Given the description of an element on the screen output the (x, y) to click on. 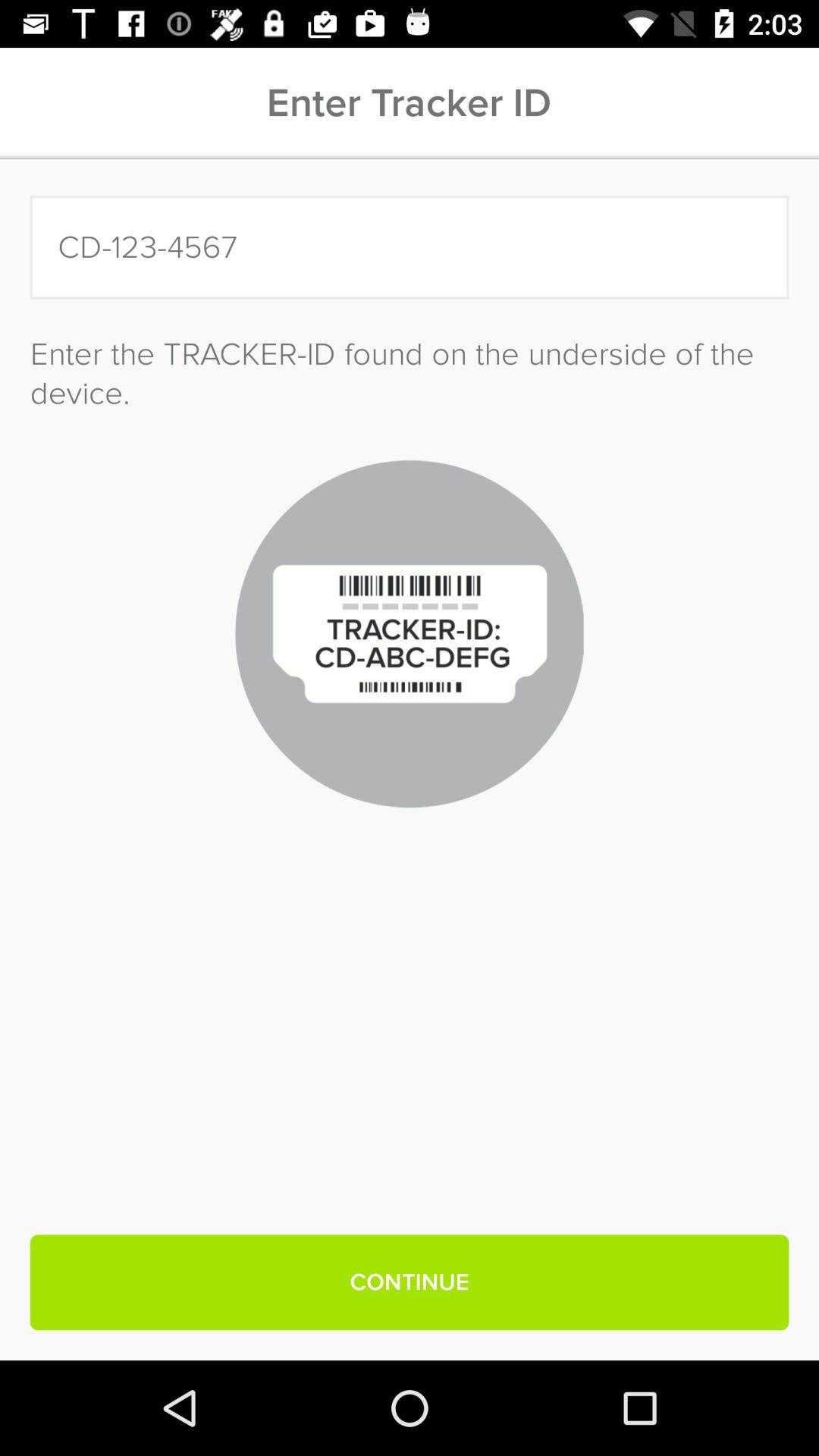
click icon above the enter the tracker (409, 247)
